Given the description of an element on the screen output the (x, y) to click on. 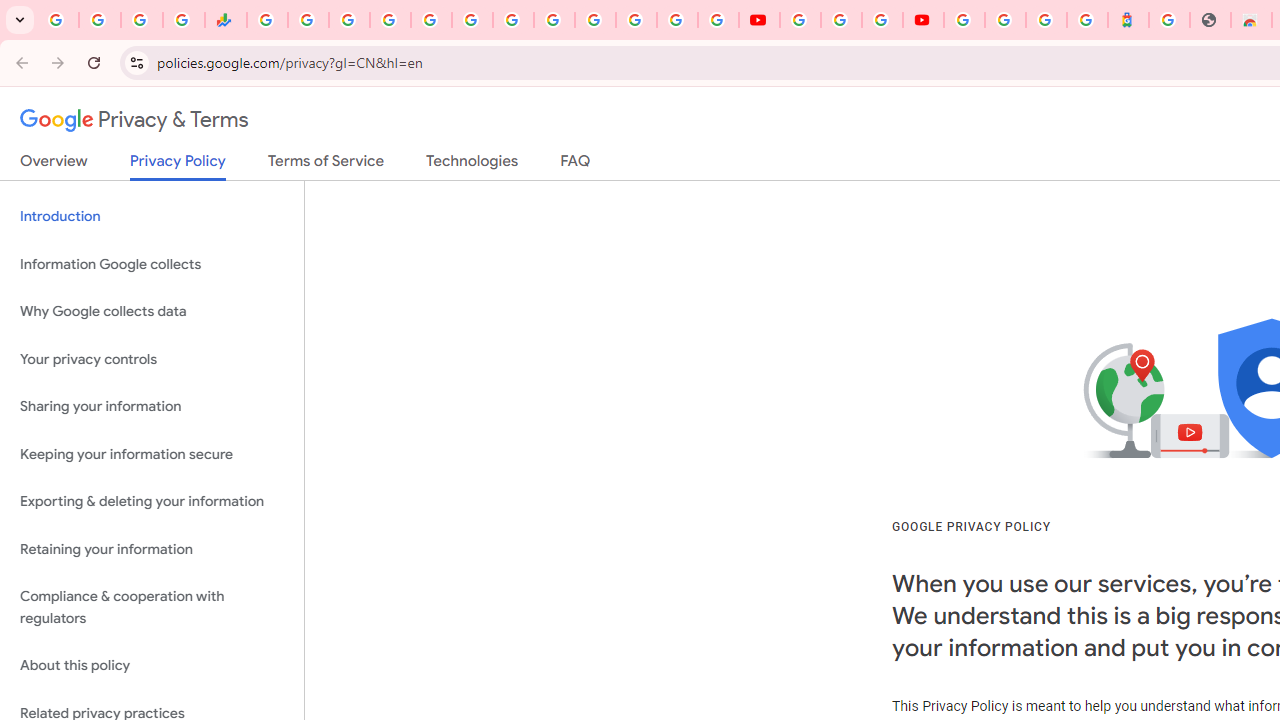
Introduction (152, 216)
Exporting & deleting your information (152, 502)
Technologies (472, 165)
YouTube (799, 20)
Compliance & cooperation with regulators (152, 607)
FAQ (575, 165)
Sign in - Google Accounts (594, 20)
